Given the description of an element on the screen output the (x, y) to click on. 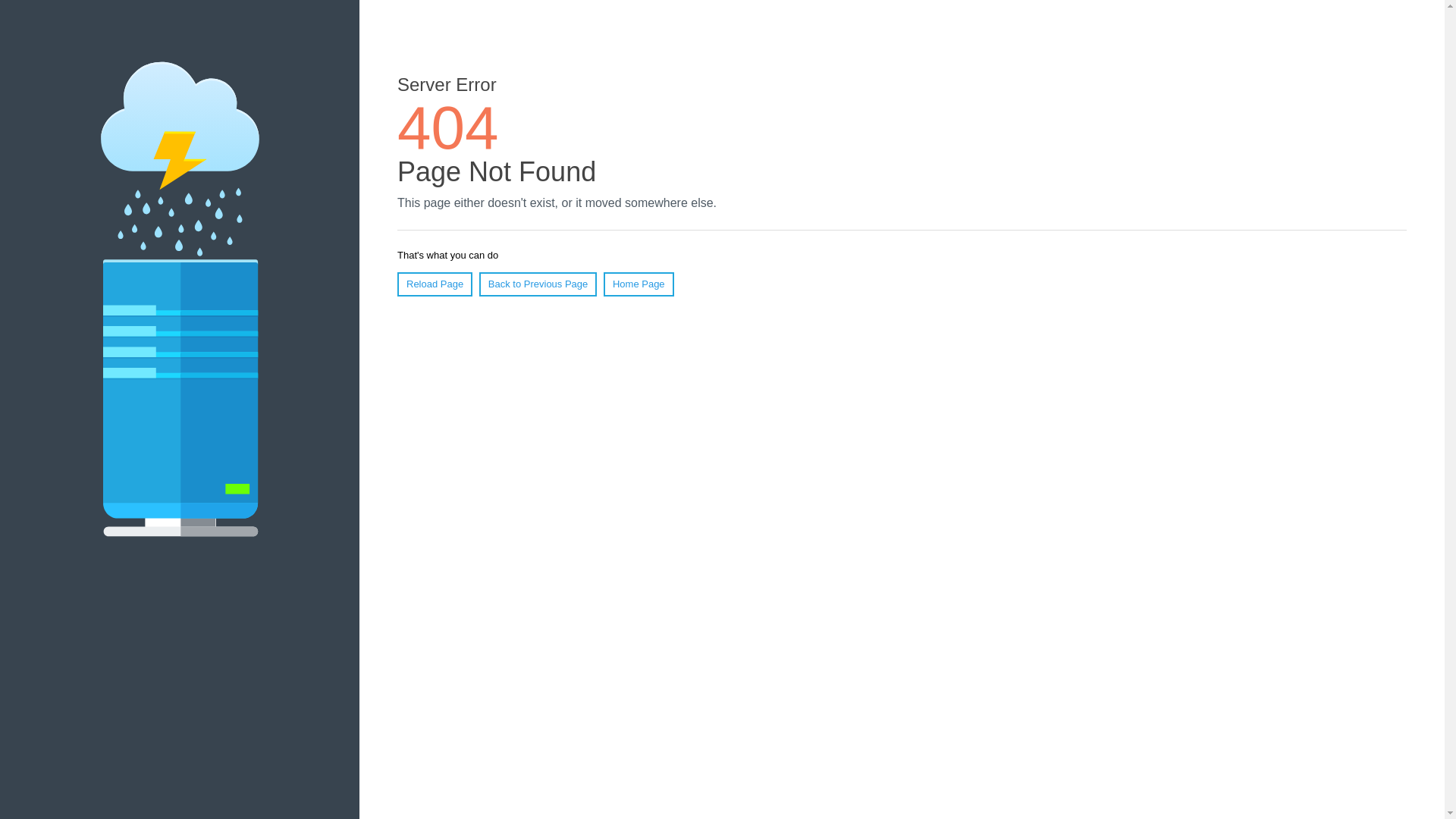
Home Page Element type: text (638, 284)
Reload Page Element type: text (434, 284)
Back to Previous Page Element type: text (538, 284)
